Given the description of an element on the screen output the (x, y) to click on. 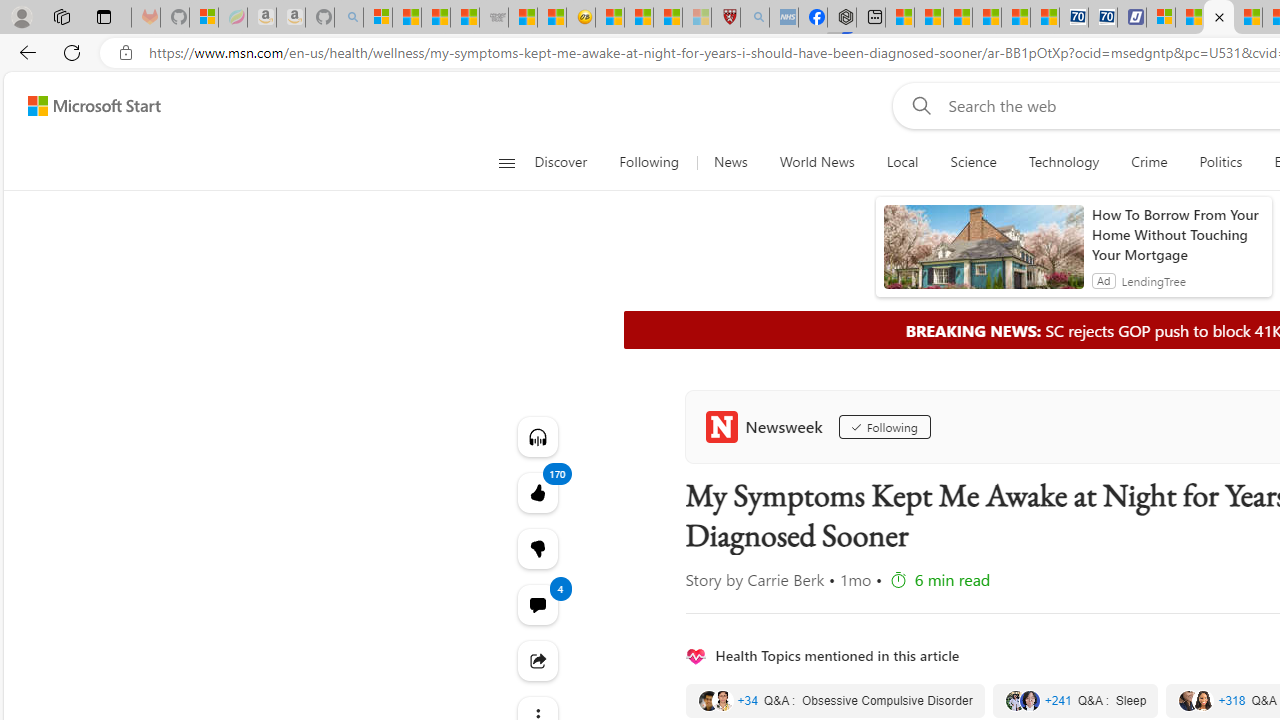
Microsoft-Report a Concern to Bing (203, 17)
Science (973, 162)
News (730, 162)
Politics (1220, 162)
Crime (1149, 162)
14 Common Myths Debunked By Scientific Facts (1247, 17)
Stocks - MSN (464, 17)
Science (973, 162)
Combat Siege (494, 17)
Class: button-glyph (505, 162)
